Given the description of an element on the screen output the (x, y) to click on. 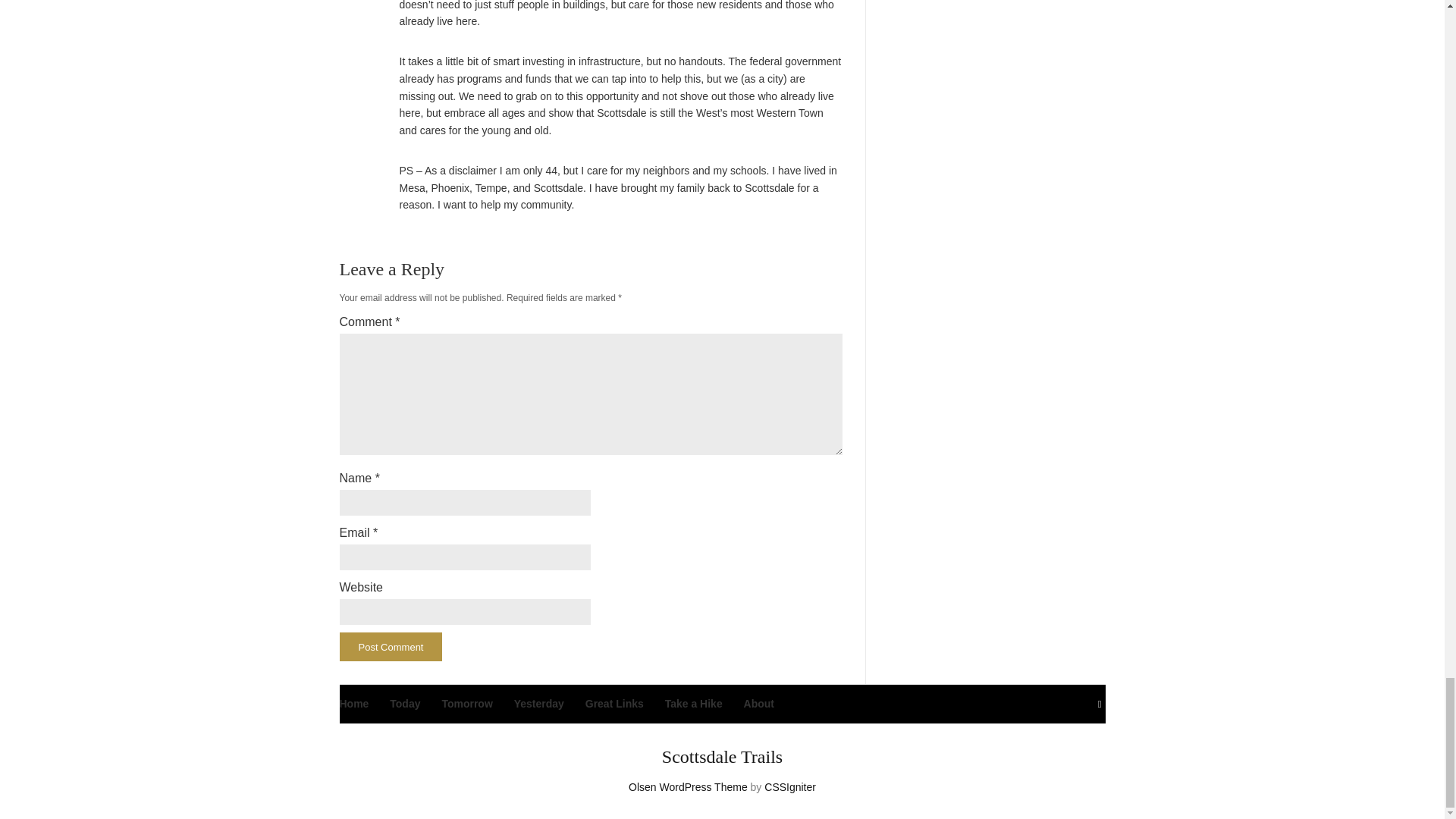
Blogging theme for WordPress (688, 787)
Post Comment (390, 646)
